Given the description of an element on the screen output the (x, y) to click on. 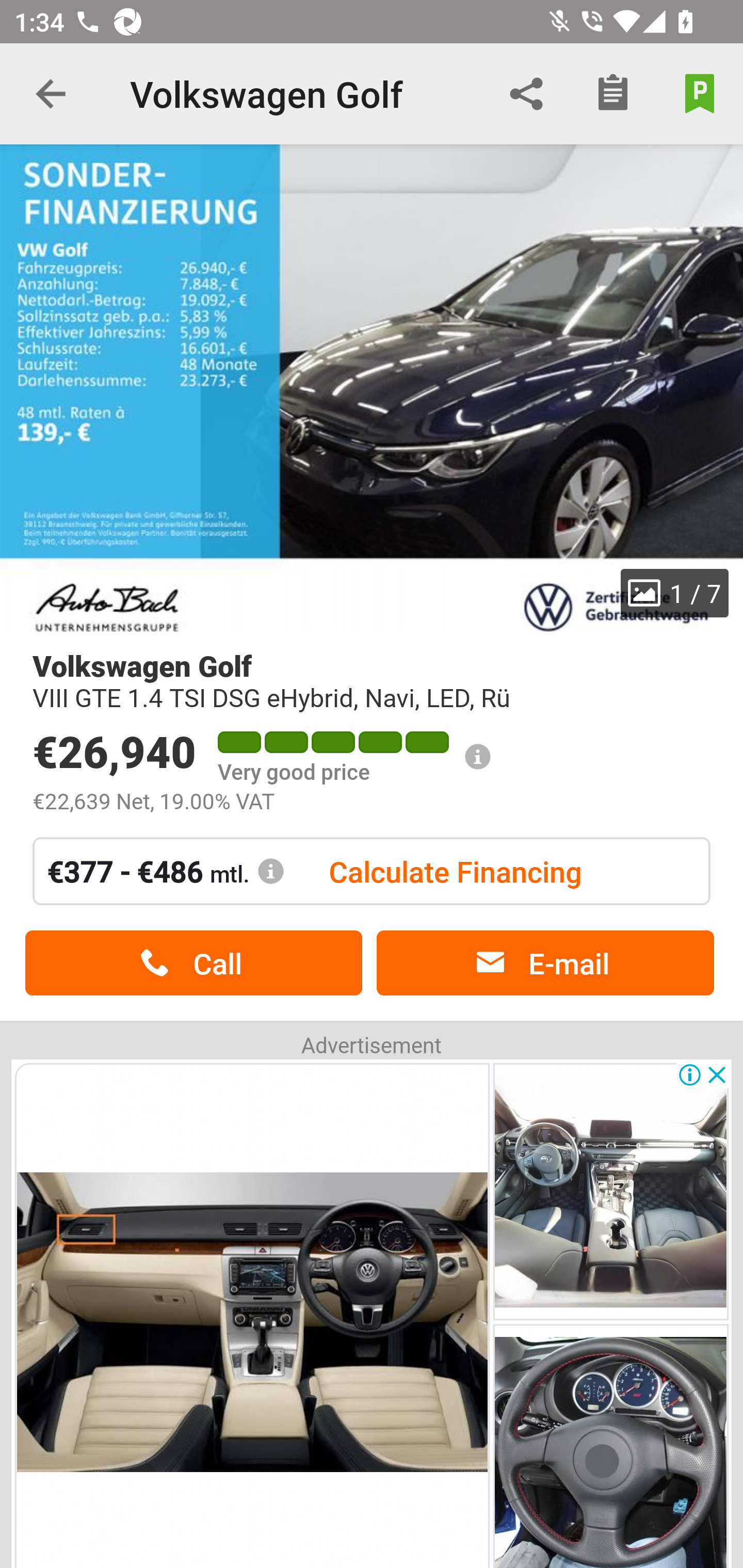
Navigate up (50, 93)
Share via (525, 93)
Checklist (612, 93)
Park (699, 93)
Calculate Financing (454, 870)
€377 - €486 mtl. (165, 870)
Call (193, 963)
E-mail (545, 963)
